Given the description of an element on the screen output the (x, y) to click on. 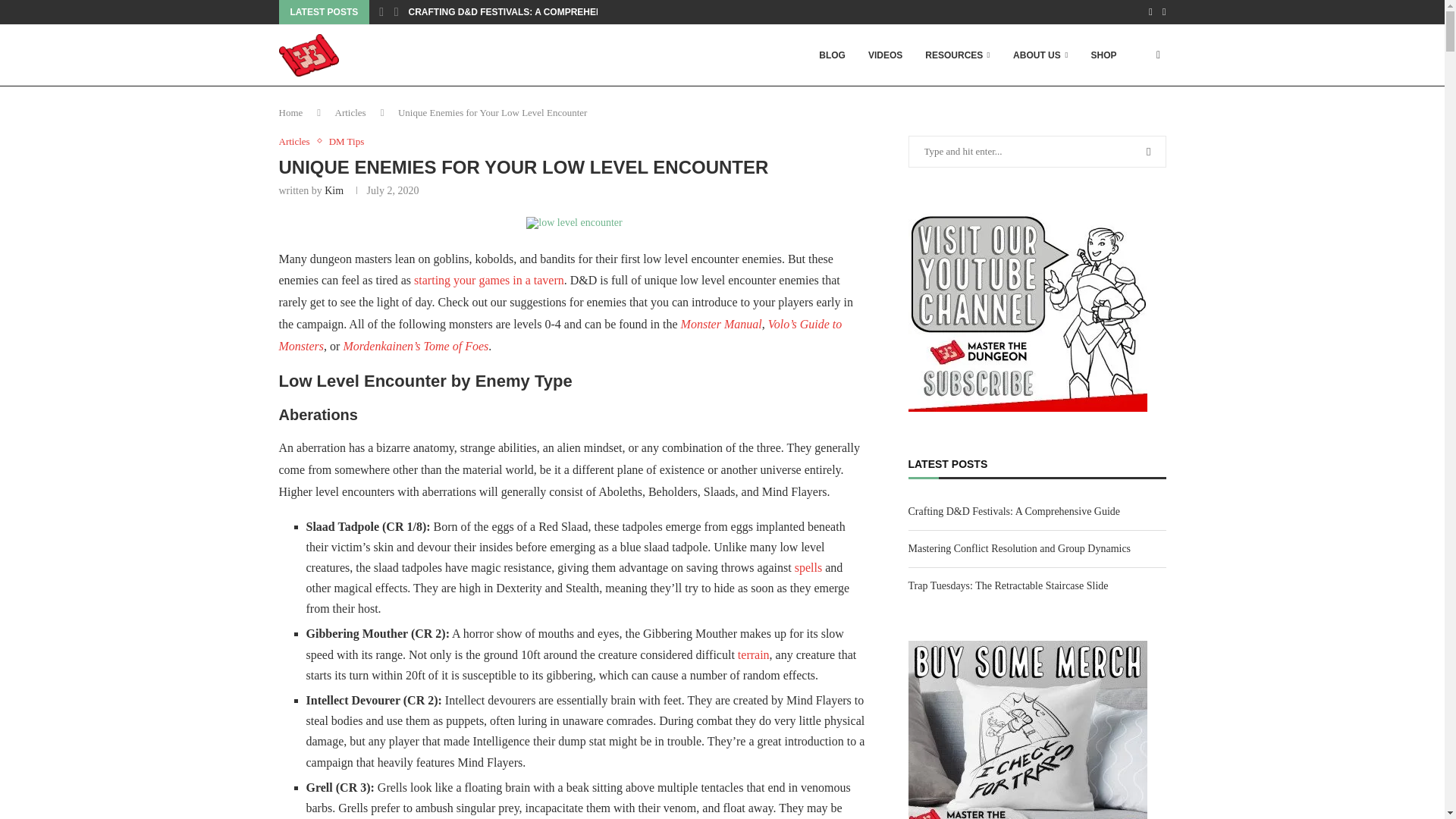
ABOUT US (1040, 55)
Articles (350, 112)
low level encounter (573, 223)
Home (290, 112)
RESOURCES (957, 55)
DM Tips (347, 141)
Kim (333, 190)
Articles (298, 141)
